Given the description of an element on the screen output the (x, y) to click on. 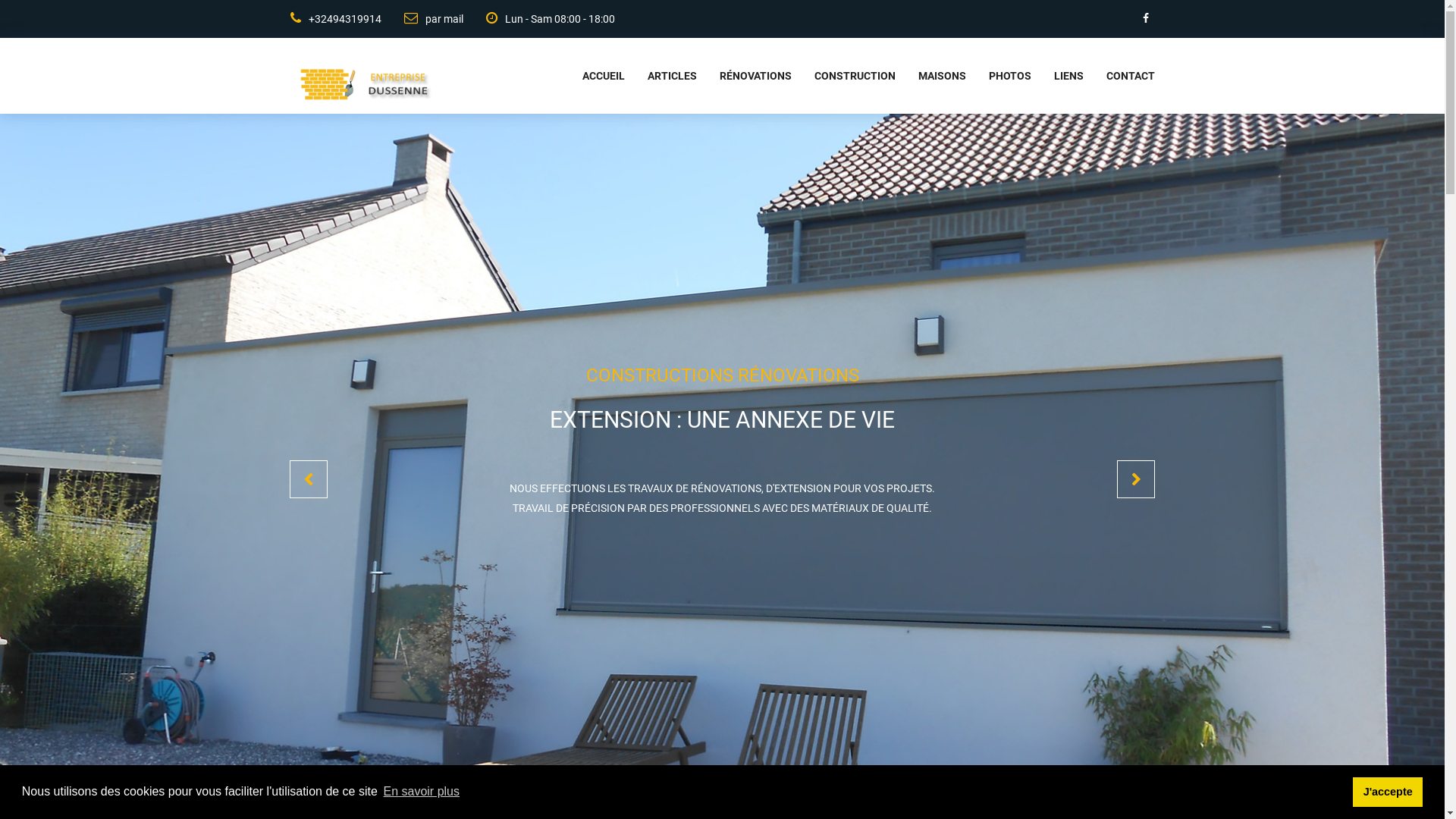
FLORENNES Element type: text (986, 128)
par mail Element type: text (421, 18)
Lun - Sam 08:00 - 18:00 Element type: text (538, 18)
CONSTRUCTION Element type: text (843, 75)
SECTEURS CONSTRUCTION Element type: text (889, 128)
CONTACT Element type: text (1118, 75)
ACCUEIL Element type: text (591, 75)
PHOTOS Element type: text (998, 75)
+32494319914 Element type: text (334, 18)
LIENS Element type: text (1057, 75)
MAISONS Element type: text (929, 75)
En savoir plus Element type: text (420, 791)
ARTICLES Element type: text (660, 75)
J'accepte Element type: text (1387, 791)
